Given the description of an element on the screen output the (x, y) to click on. 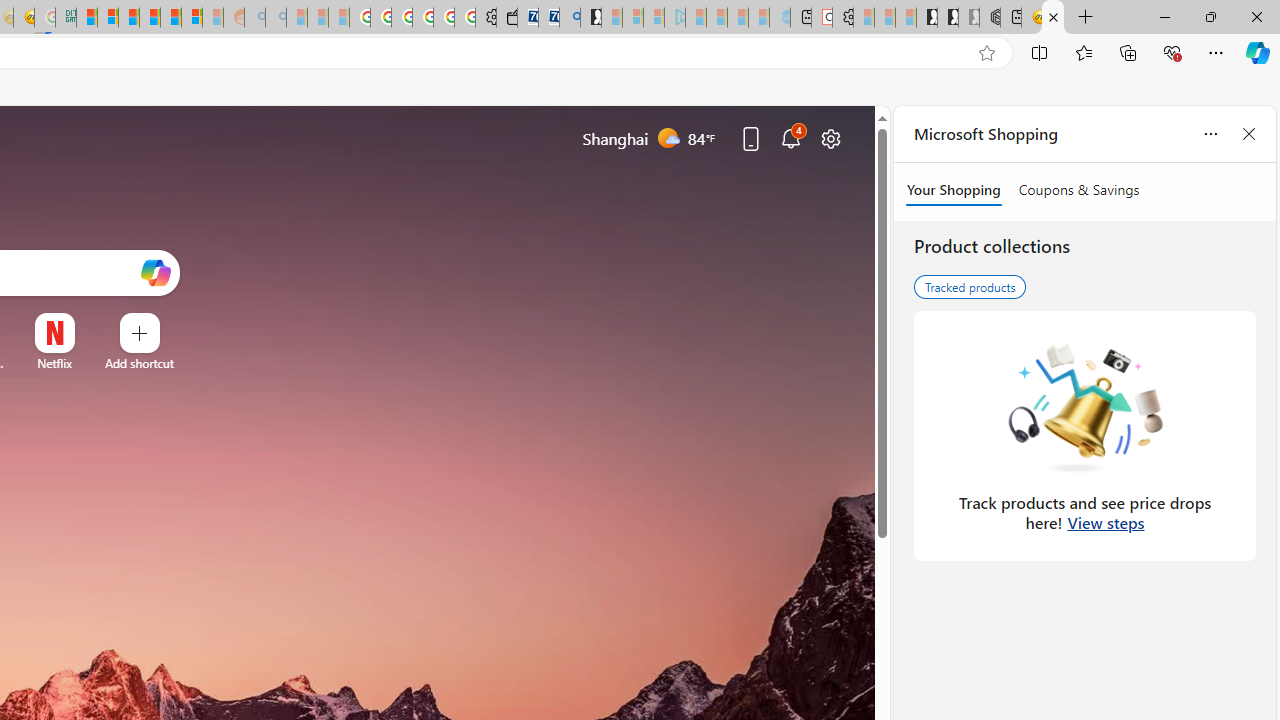
Kinda Frugal - MSN (170, 17)
Expert Portfolios (149, 17)
Wallet (506, 17)
